Given the description of an element on the screen output the (x, y) to click on. 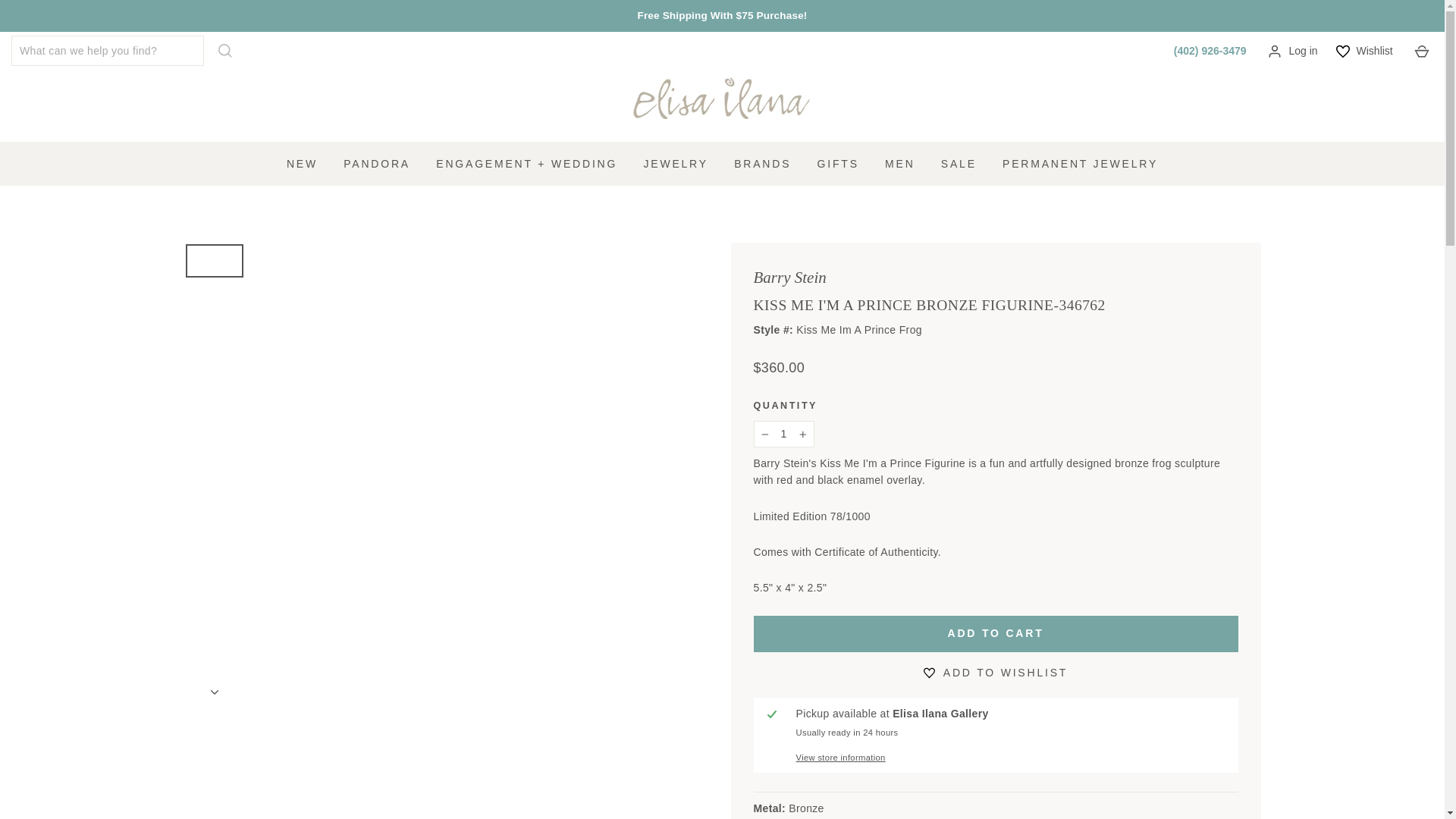
Barry Stein (790, 277)
1 (783, 433)
